Given the description of an element on the screen output the (x, y) to click on. 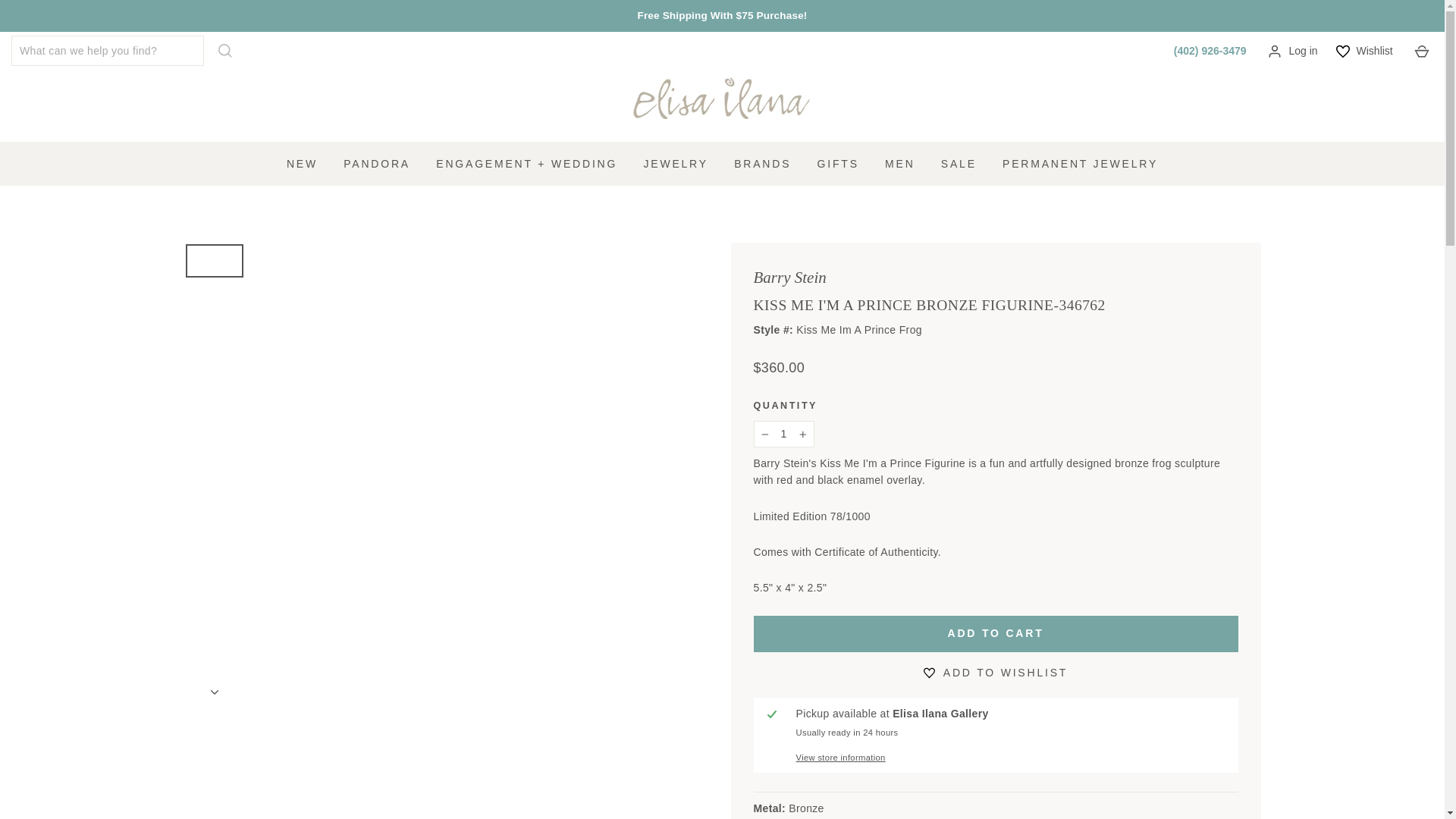
Barry Stein (790, 277)
1 (783, 433)
